Given the description of an element on the screen output the (x, y) to click on. 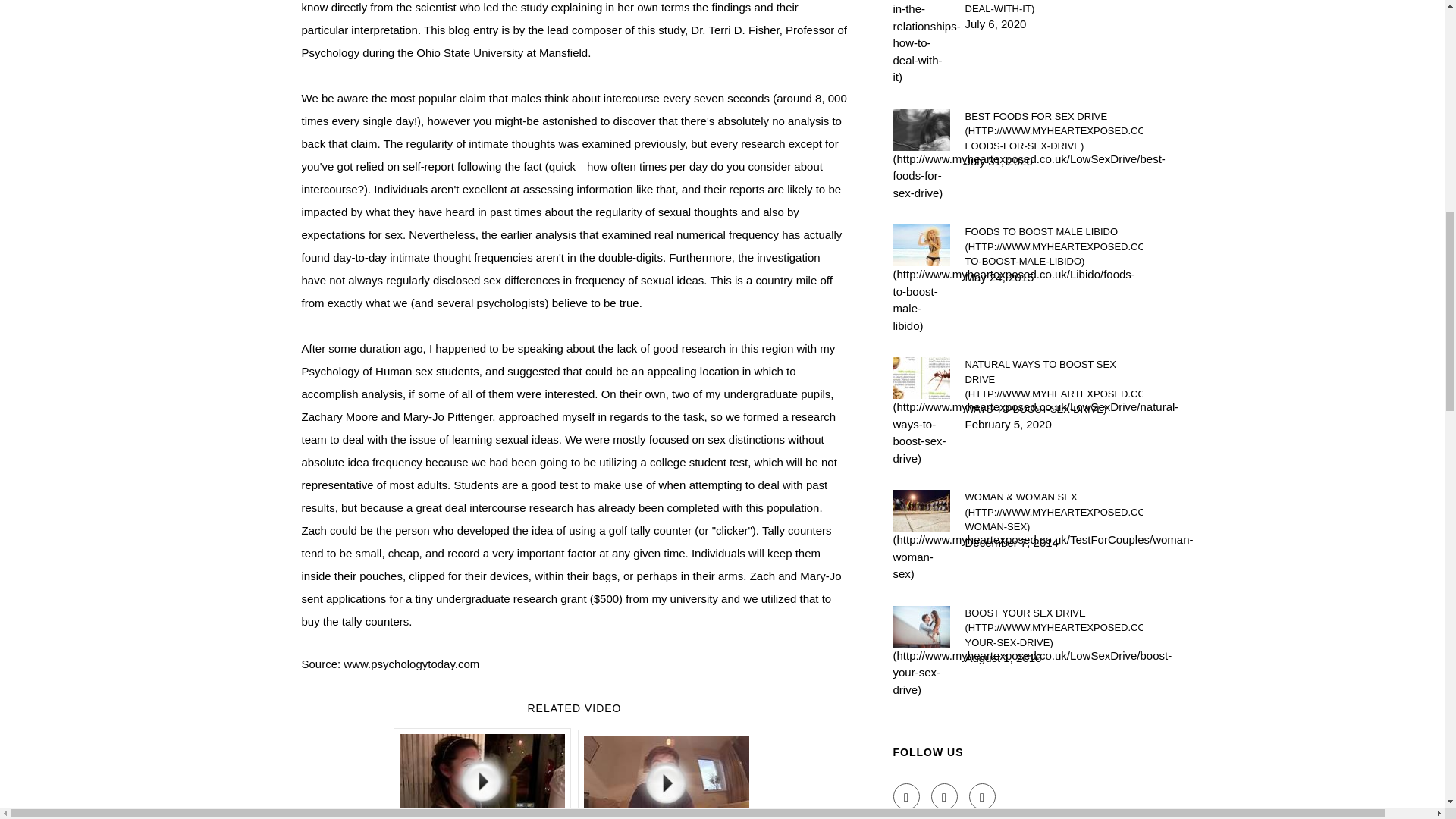
View this video from YouTube (666, 774)
Facebook (906, 795)
STRESS IN THE RELATIONSHIPS: HOW TO DEAL WITH IT (1052, 8)
View this video from ABC7 Los Angeles (482, 773)
BEST FOODS FOR SEX DRIVE (1052, 130)
FOODS TO BOOST MALE LIBIDO (1052, 246)
Google Plus (982, 795)
Twitter (944, 795)
